Given the description of an element on the screen output the (x, y) to click on. 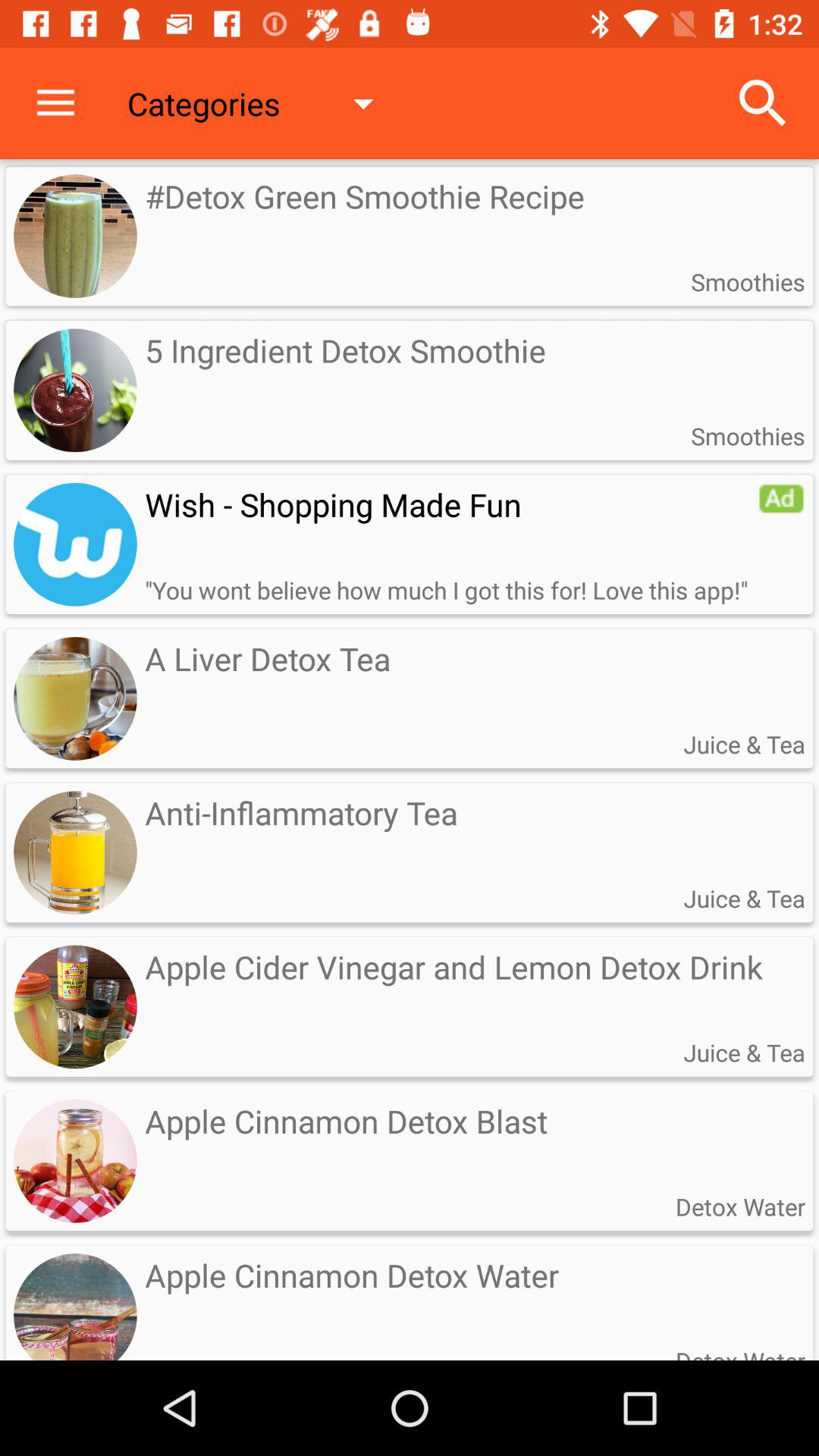
flip to you wont believe (446, 589)
